Given the description of an element on the screen output the (x, y) to click on. 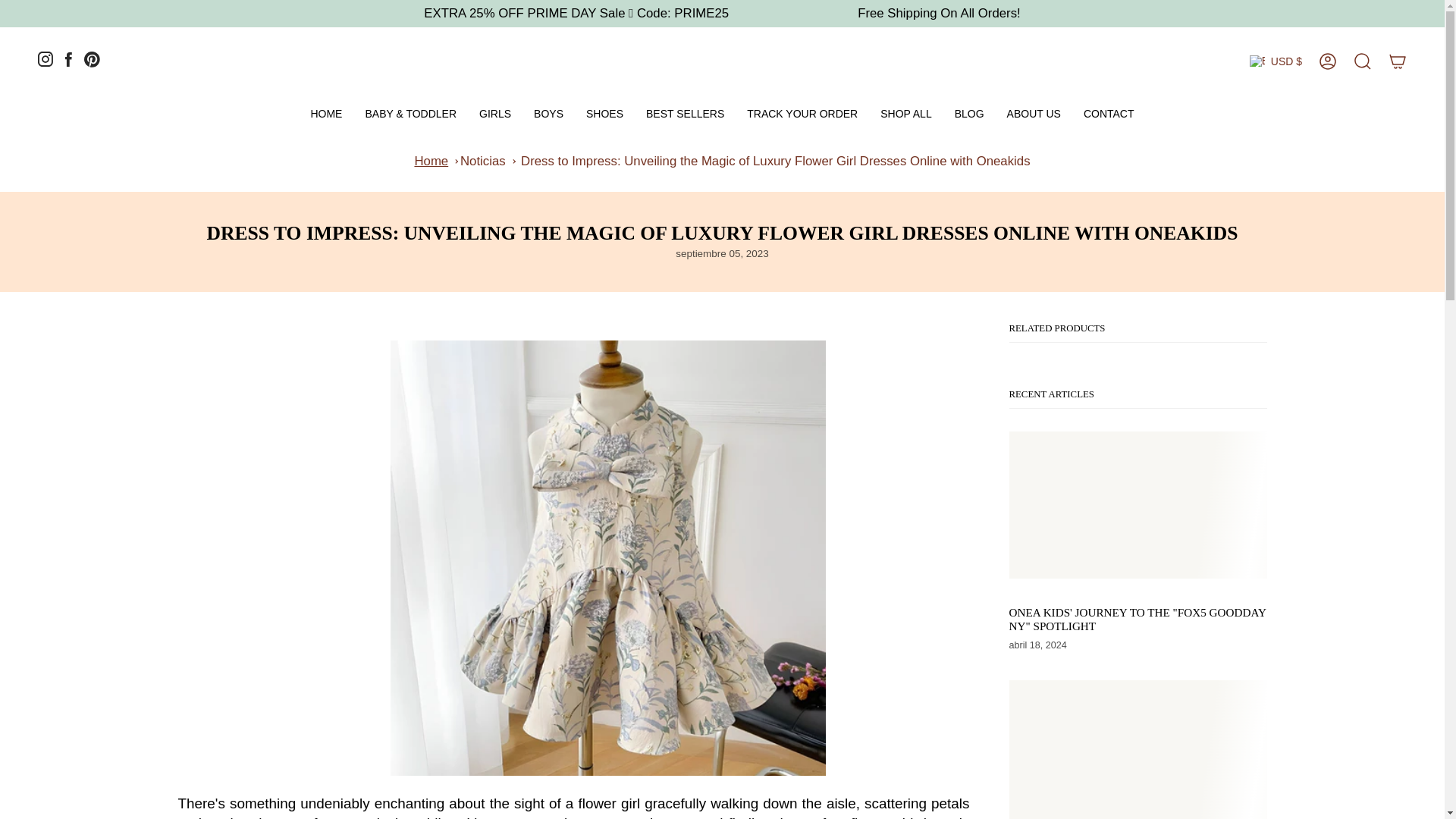
Mi cuenta (1327, 61)
ONEA Kids' Journey to the "FOX5 GoodDay NY" Spotlight (1137, 619)
ONEAKIDS en Pinterest (92, 63)
Buscar en la tienda (1362, 61)
Carrito de compras (1397, 61)
ONEAKIDS en Instagram (44, 62)
